Given the description of an element on the screen output the (x, y) to click on. 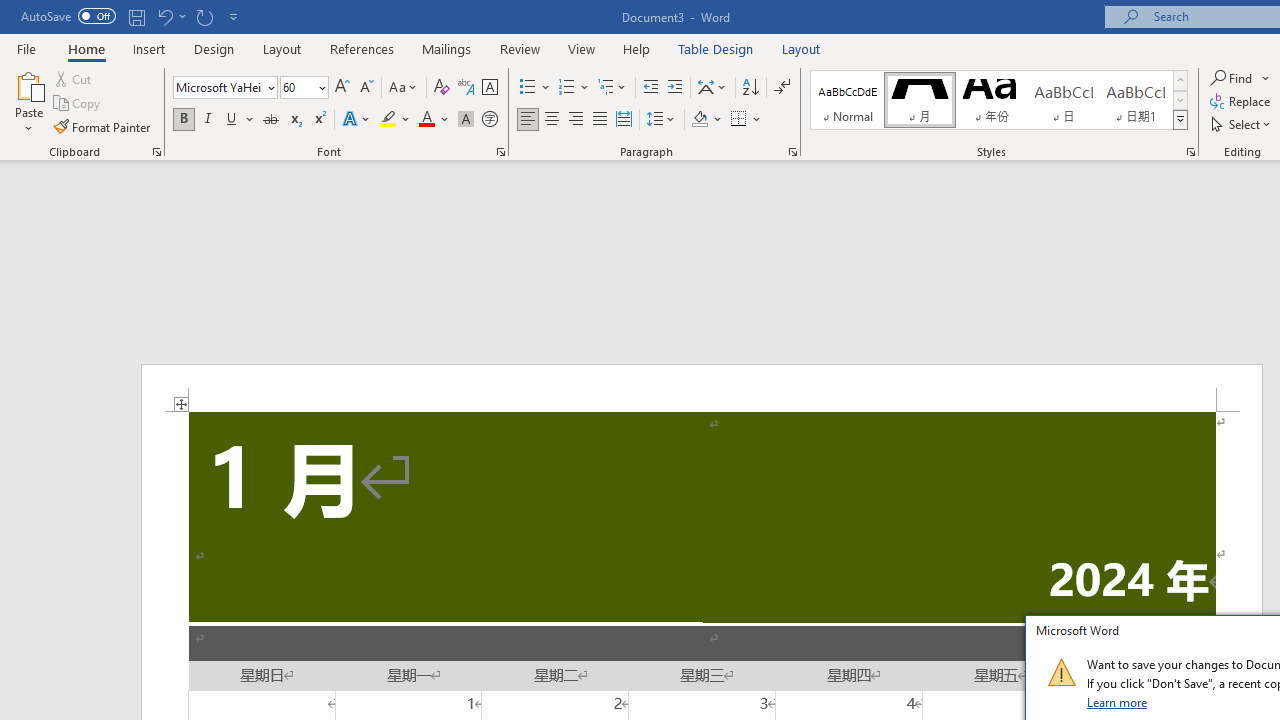
Find (1240, 78)
Shading (706, 119)
Find (1233, 78)
